Given the description of an element on the screen output the (x, y) to click on. 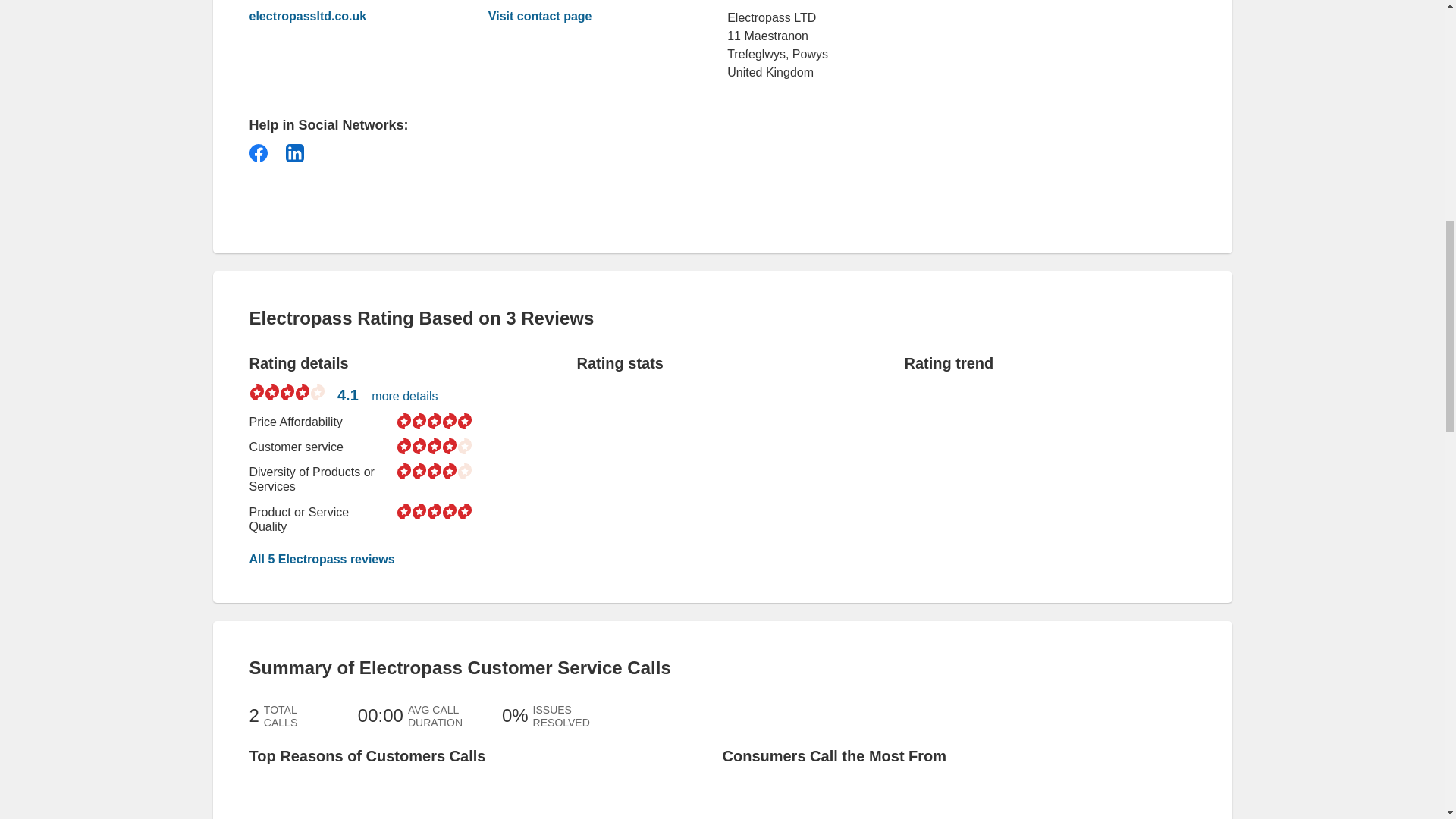
Electropass (345, 16)
electropassltd.co.uk (345, 16)
Electropass (539, 16)
Linkedin (293, 153)
Linkedin link (293, 153)
Facebook (257, 153)
Chart Top Reasons of Customers Calls (332, 798)
Visit contact page (539, 16)
All 5 Electropass reviews (321, 558)
Facebook link (257, 153)
